Given the description of an element on the screen output the (x, y) to click on. 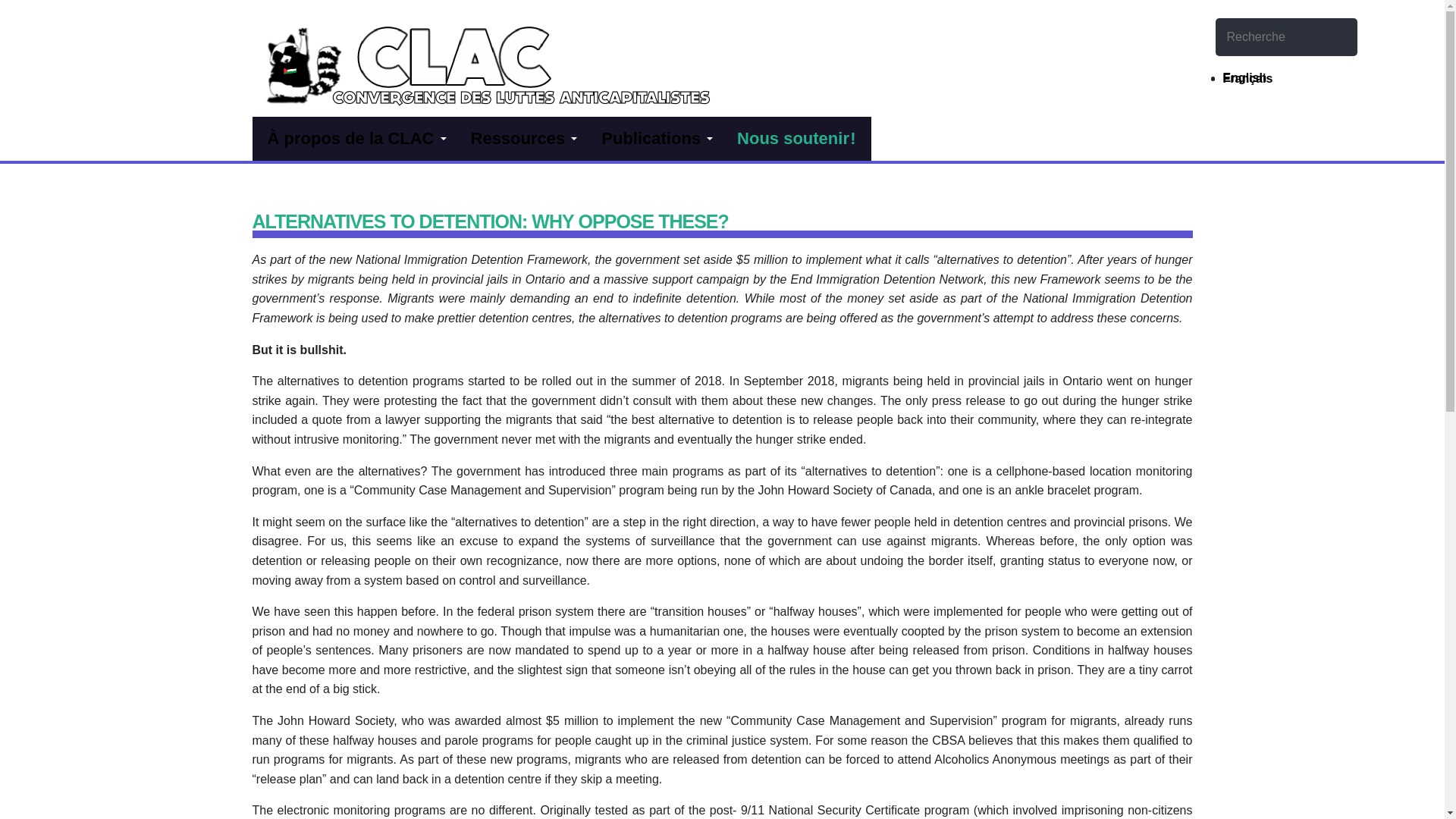
English (1244, 77)
Publications (654, 138)
rechercher (1233, 73)
Accueil (303, 53)
Ressources (520, 138)
rechercher (1233, 73)
